Given the description of an element on the screen output the (x, y) to click on. 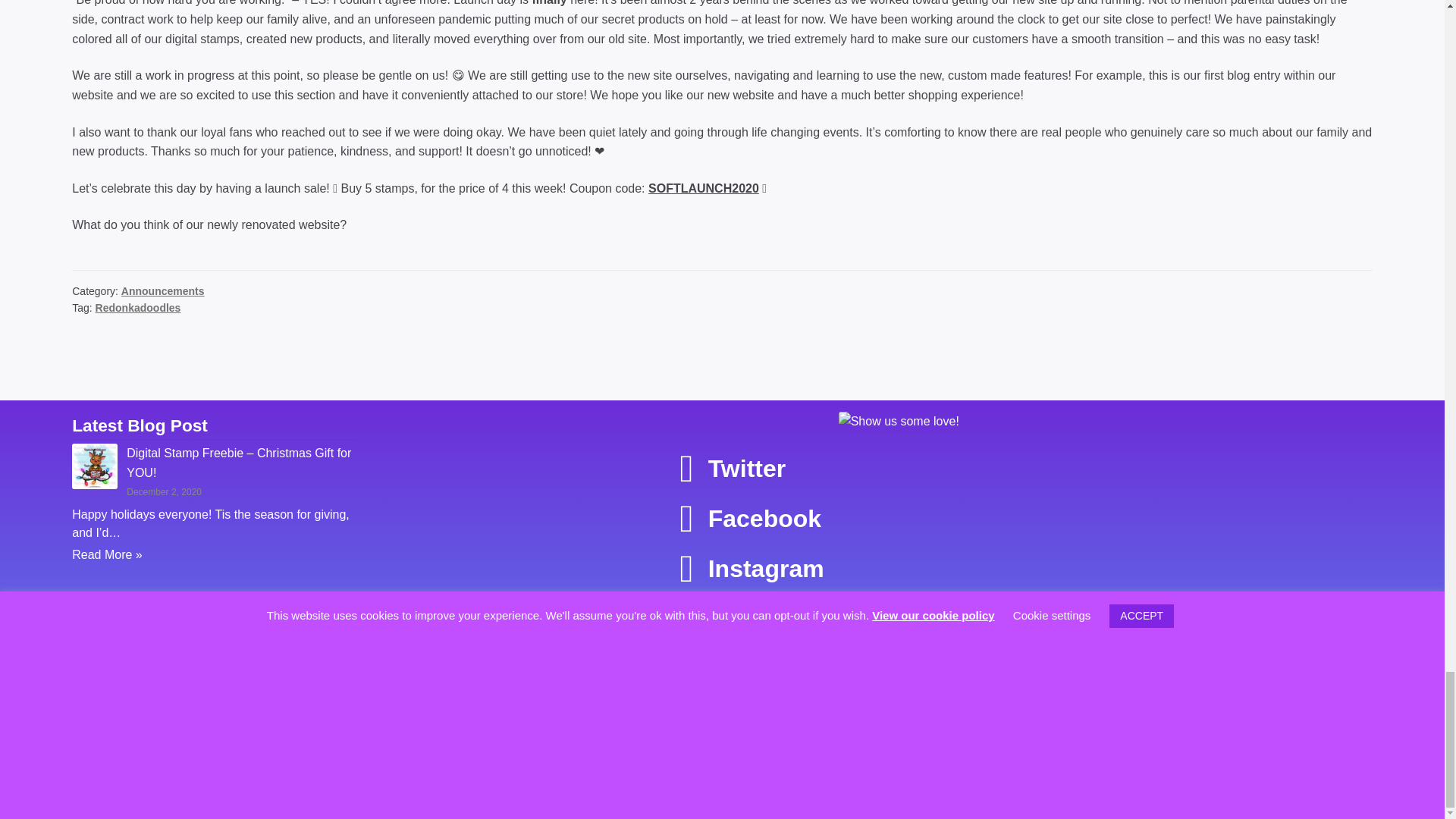
Twitter (732, 468)
Facebook (750, 518)
Instagram (751, 568)
